Given the description of an element on the screen output the (x, y) to click on. 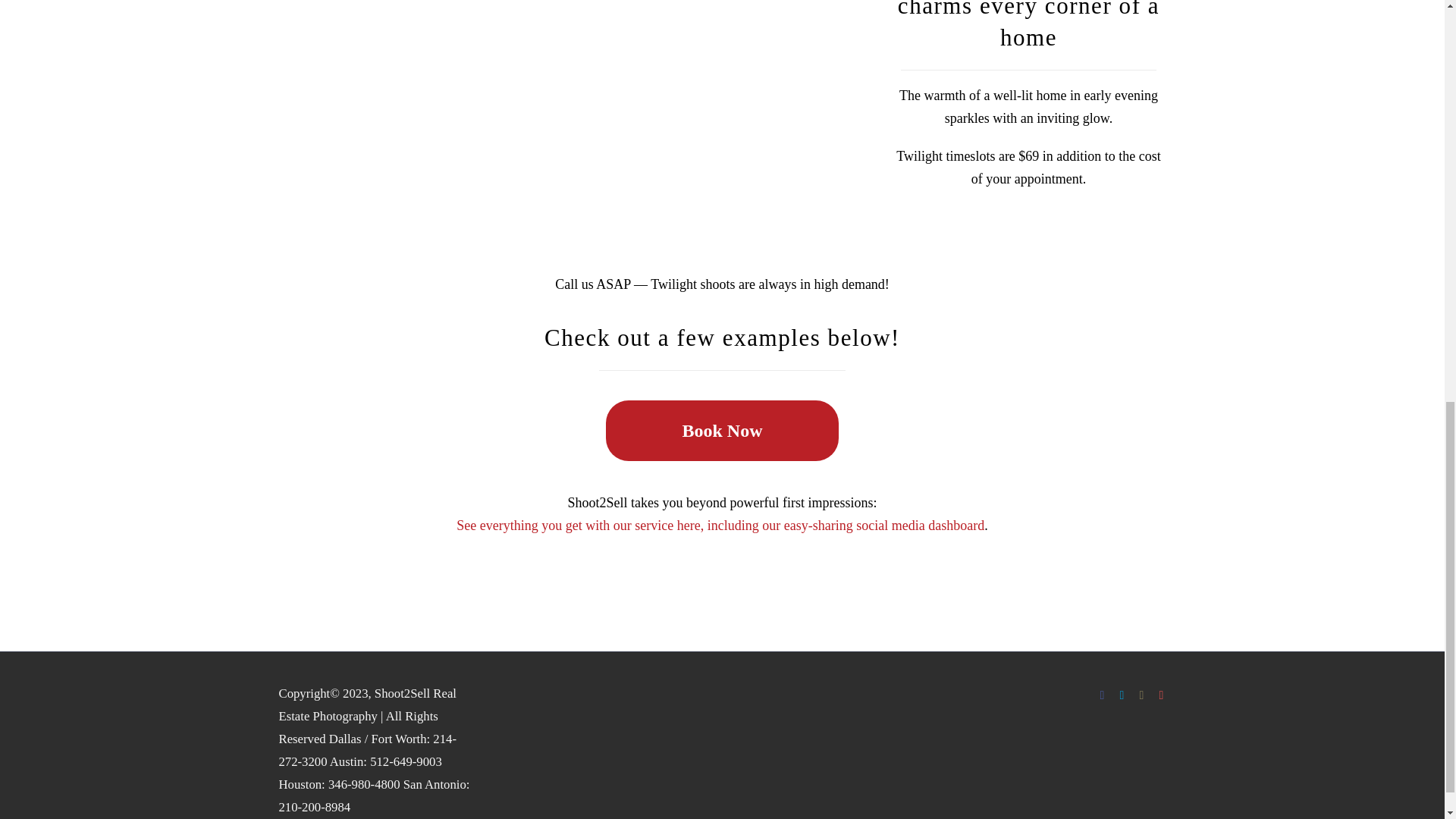
Twitter (1122, 695)
Pinterest (1161, 695)
Facebook (1102, 695)
Instagram (1141, 695)
Book Now (721, 430)
